Given the description of an element on the screen output the (x, y) to click on. 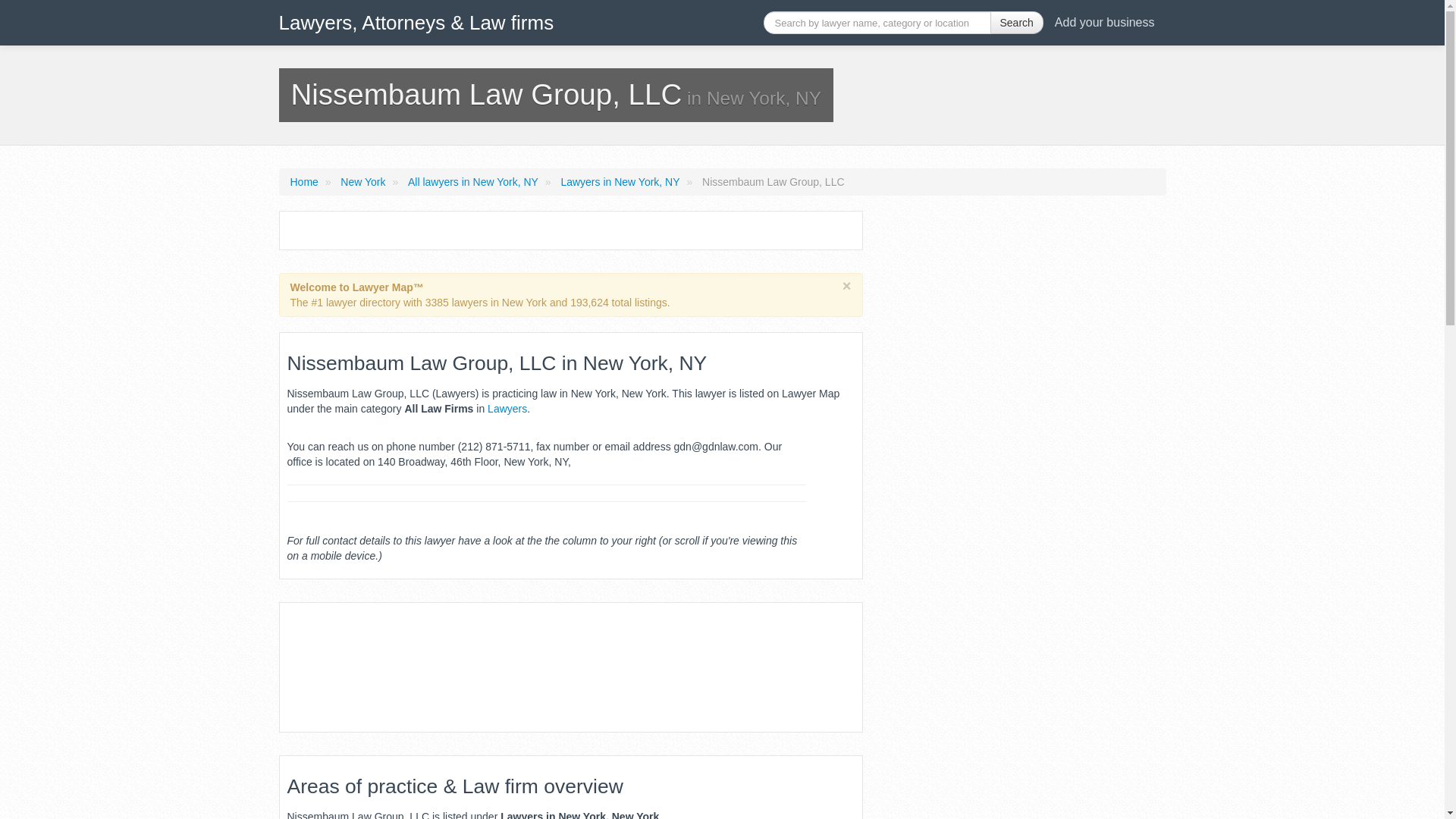
Search (1016, 22)
New York (362, 182)
Home (303, 182)
Lawyers (507, 408)
Lawyers in New York, NY (619, 182)
Add your business (1104, 22)
All lawyers in New York, NY (472, 182)
